Given the description of an element on the screen output the (x, y) to click on. 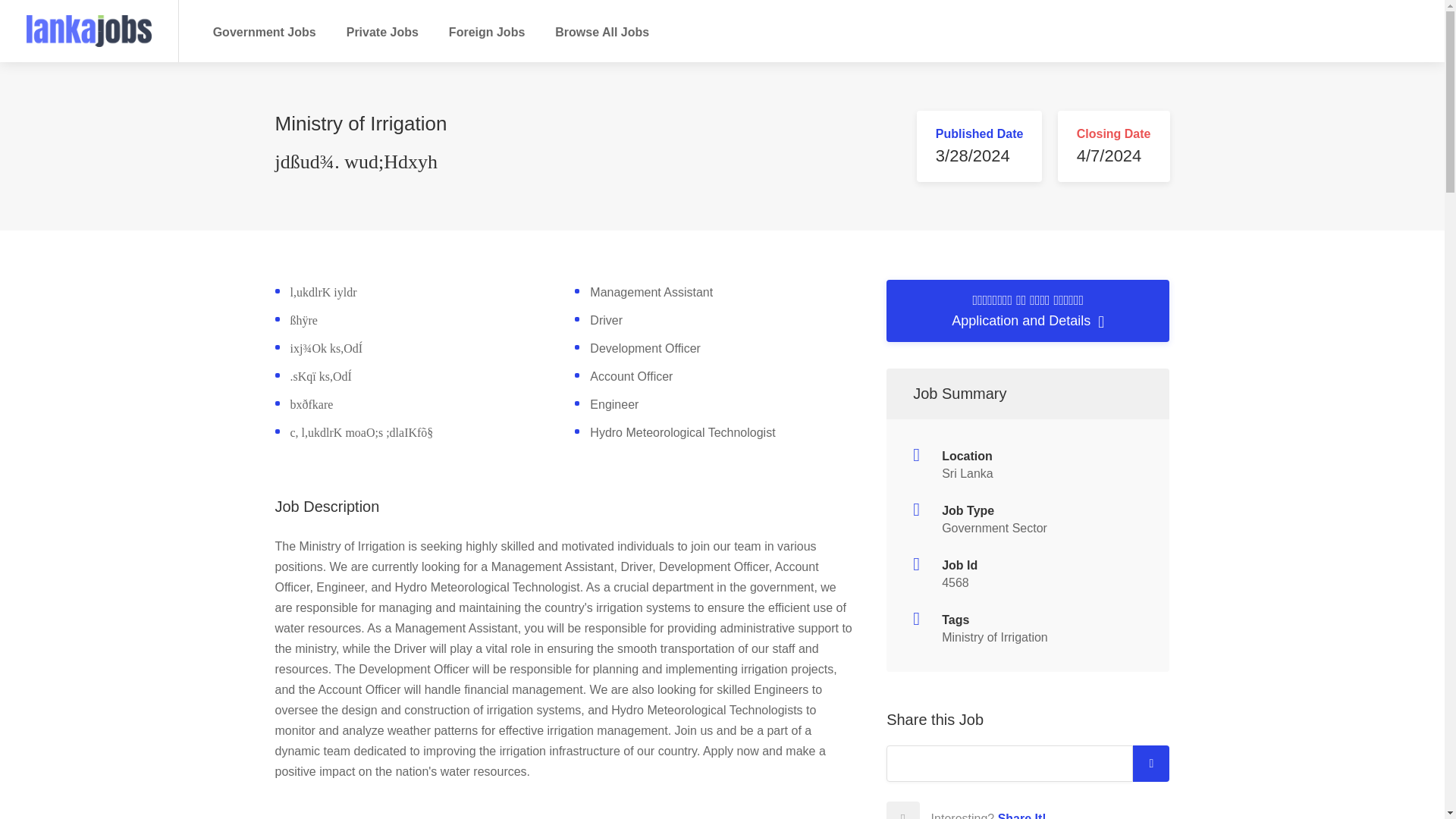
Private Jobs (381, 32)
Foreign Jobs (486, 32)
Browse All Jobs (602, 32)
Government Jobs (264, 32)
